Given the description of an element on the screen output the (x, y) to click on. 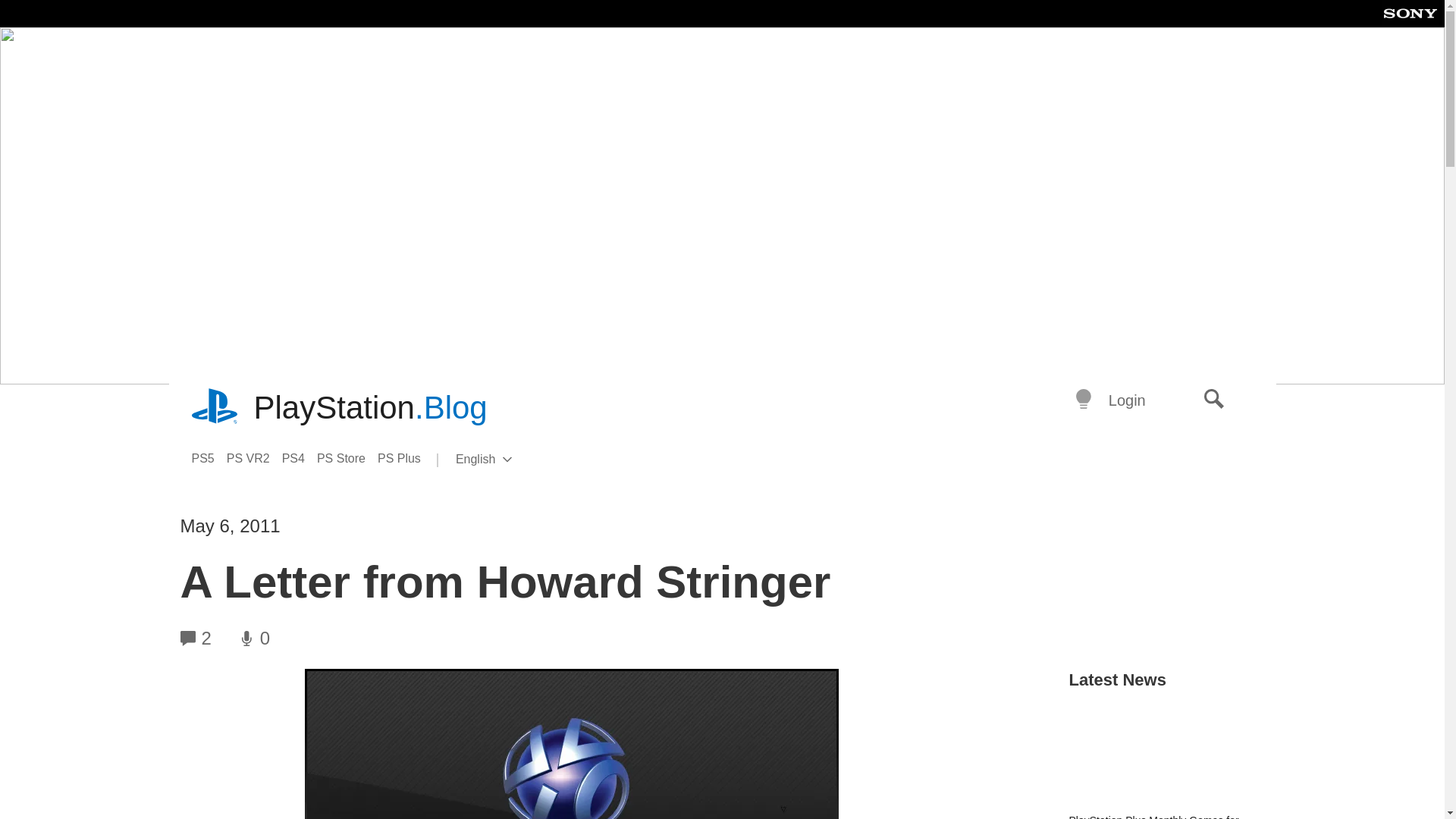
Search (1214, 400)
playstation.com (215, 408)
Login (1126, 400)
PlayStation.Blog (369, 407)
PS4 (299, 458)
PS VR2 (508, 459)
PS Store (254, 458)
PS5 (347, 458)
PS Plus (207, 458)
